Given the description of an element on the screen output the (x, y) to click on. 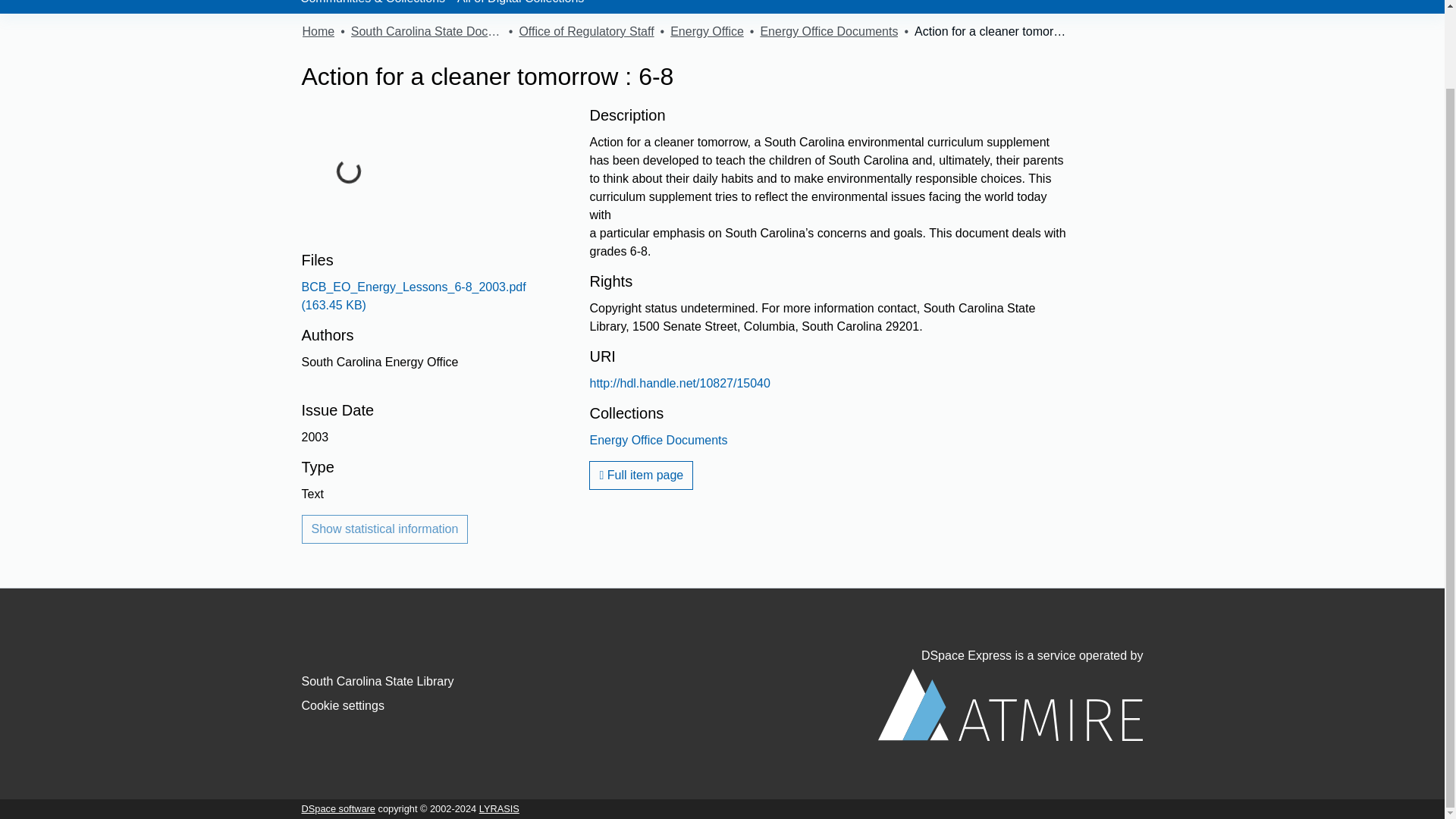
DSpace Express is a service operated by (1009, 695)
South Carolina State Documents Depository (426, 31)
Energy Office (706, 31)
Energy Office Documents (657, 440)
Cookie settings (342, 705)
Energy Office Documents (829, 31)
Full item page (641, 475)
LYRASIS (499, 808)
Home (317, 31)
Show statistical information (384, 529)
DSpace software (338, 808)
All of Digital Collections (524, 6)
Office of Regulatory Staff (585, 31)
South Carolina State Library (377, 680)
